Given the description of an element on the screen output the (x, y) to click on. 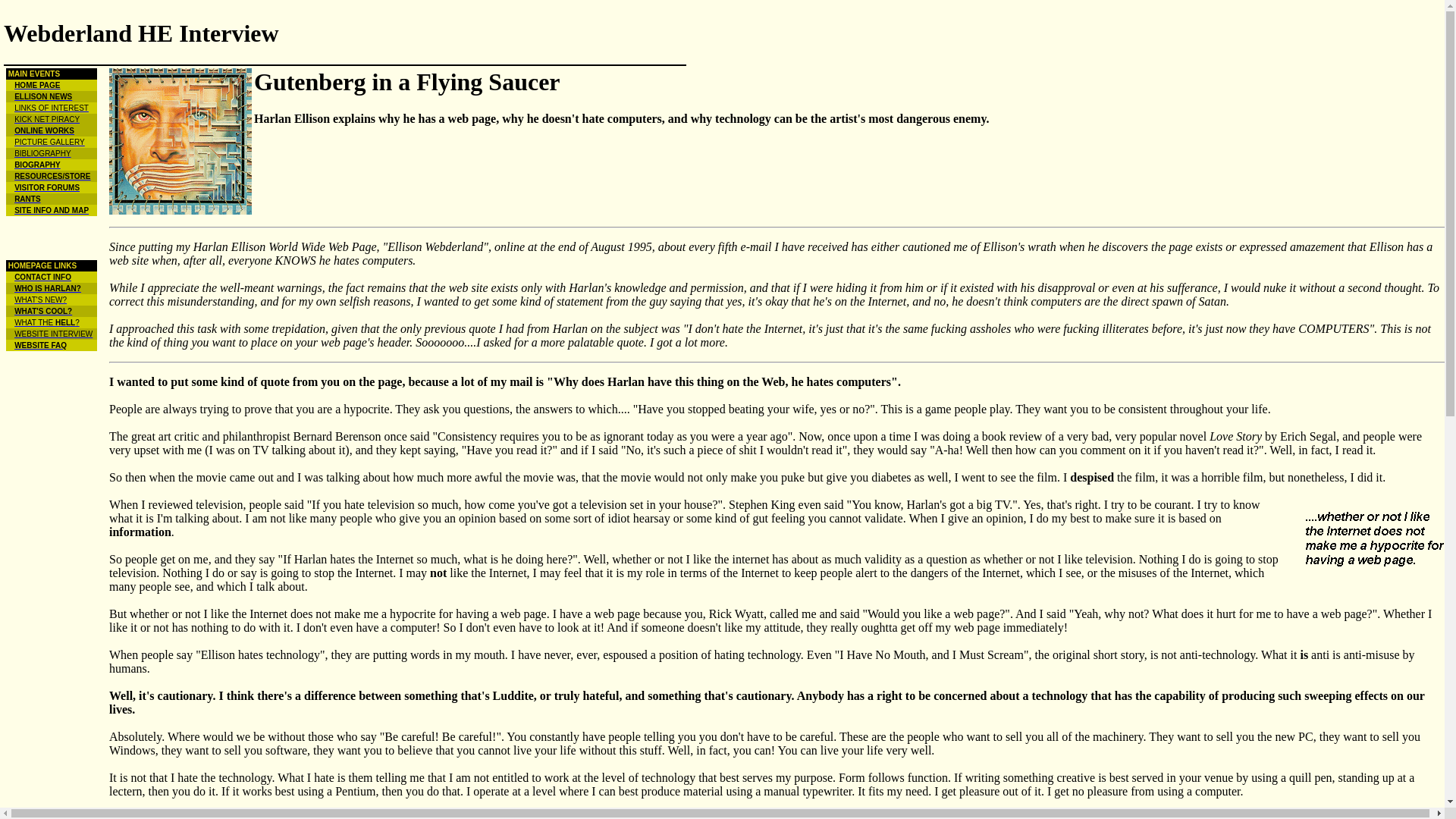
WEBSITE FAQ (40, 345)
PICTURE GALLERY (49, 142)
HOME PAGE (36, 85)
CONTACT INFO (42, 276)
LINKS OF INTEREST (51, 108)
VISITOR FORUMS (47, 187)
SITE INFO AND MAP (51, 210)
WHAT'S NEW? (40, 299)
WHAT'S COOL? (42, 311)
WHO IS HARLAN? (47, 288)
ELLISON NEWS (42, 96)
WHAT THE HELL? (47, 322)
RANTS (27, 198)
BIBLIOGRAPHY (41, 153)
BIOGRAPHY (37, 164)
